Given the description of an element on the screen output the (x, y) to click on. 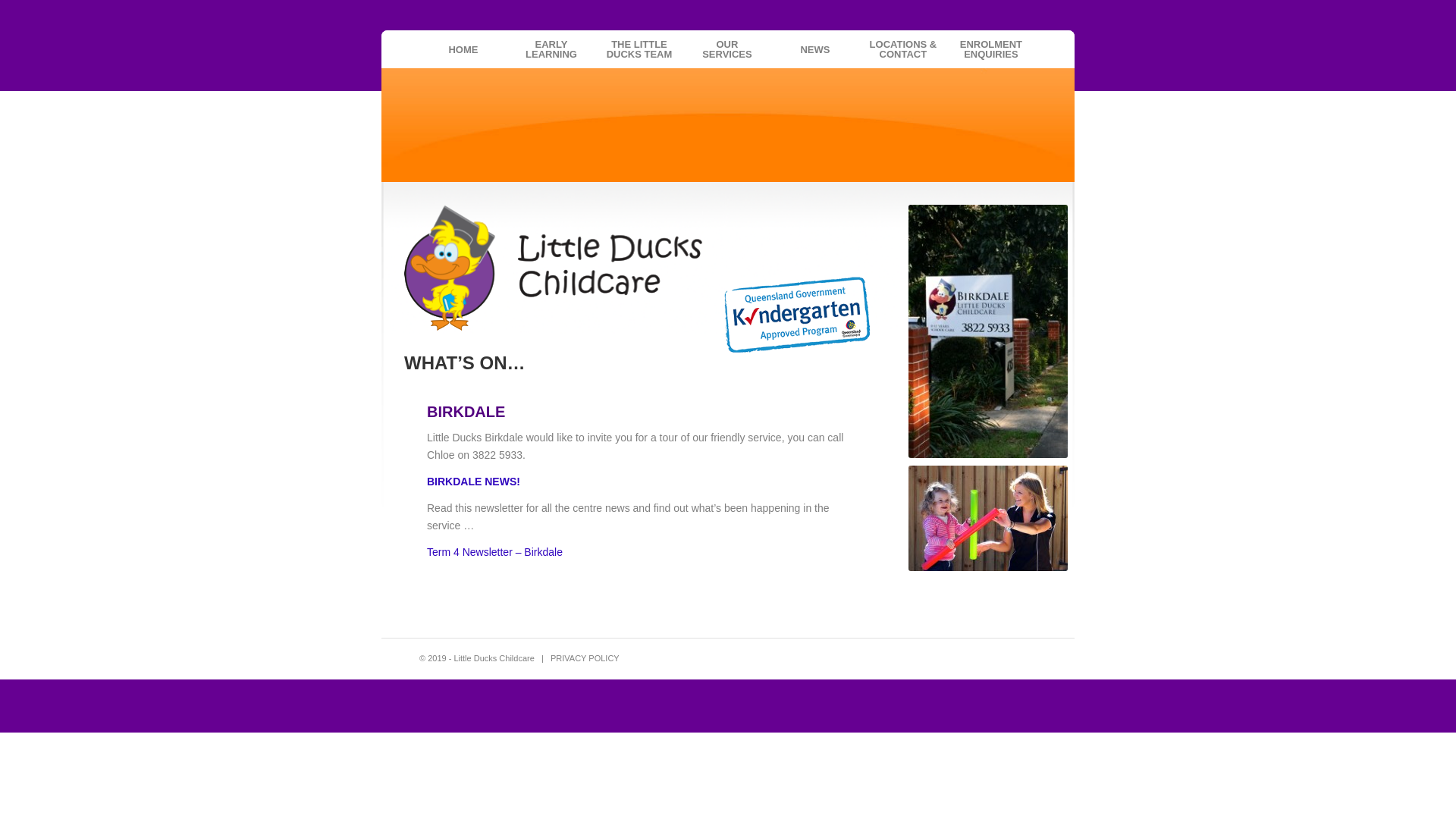
IMAGE-6 Element type: hover (987, 518)
THE LITTLE DUCKS TEAM Element type: text (639, 49)
NEWS Element type: text (814, 49)
logo Element type: hover (553, 267)
ENROLMENT ENQUIRIES Element type: text (991, 49)
birkdale-child-care-centre-007 Element type: hover (987, 331)
PRIVACY POLICY Element type: text (584, 657)
LOCATIONS & CONTACT Element type: text (903, 49)
HOME Element type: text (462, 49)
OUR SERVICES Element type: text (727, 49)
EARLY LEARNING Element type: text (551, 49)
